Given the description of an element on the screen output the (x, y) to click on. 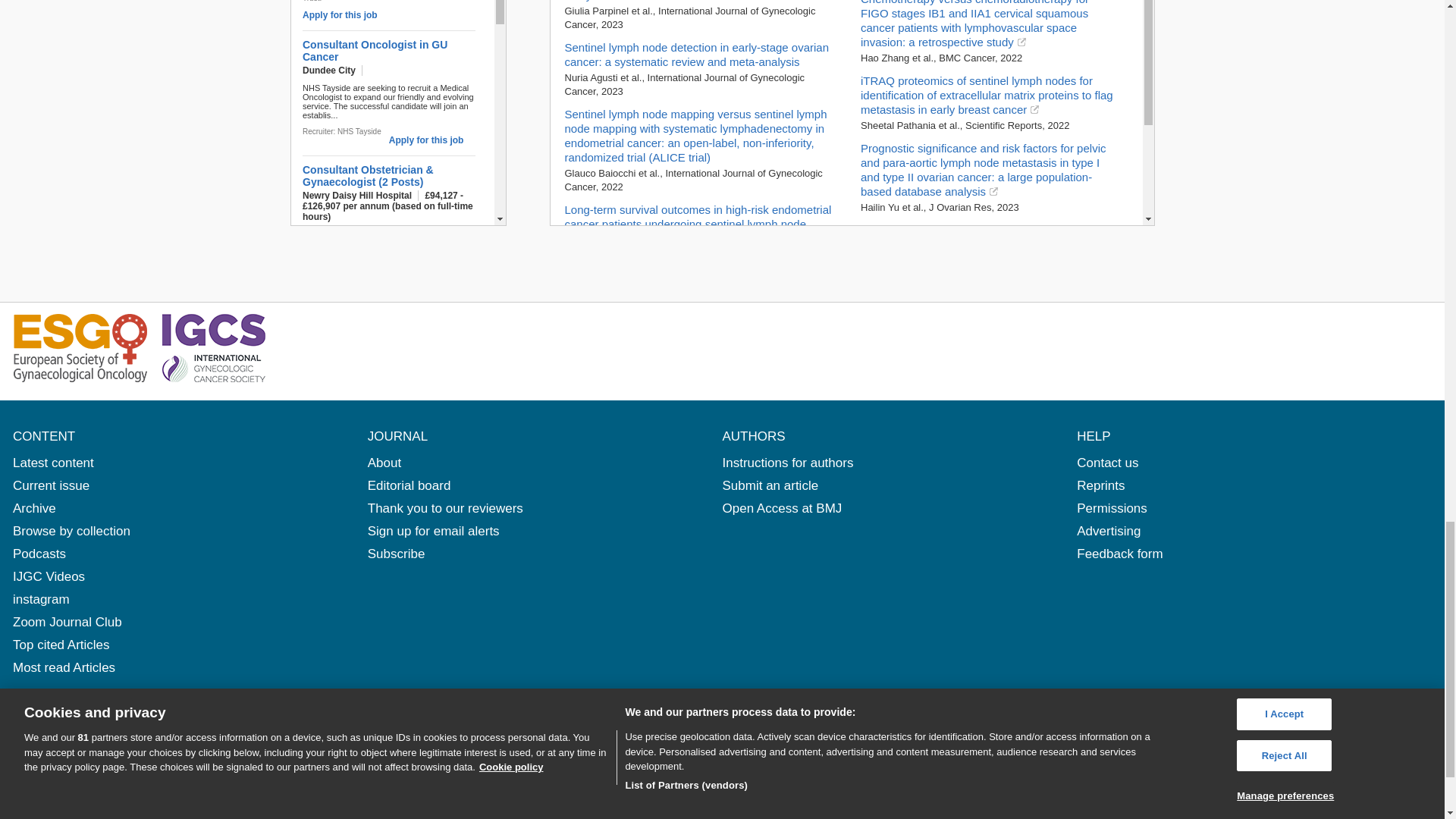
careers widget (397, 113)
